Given the description of an element on the screen output the (x, y) to click on. 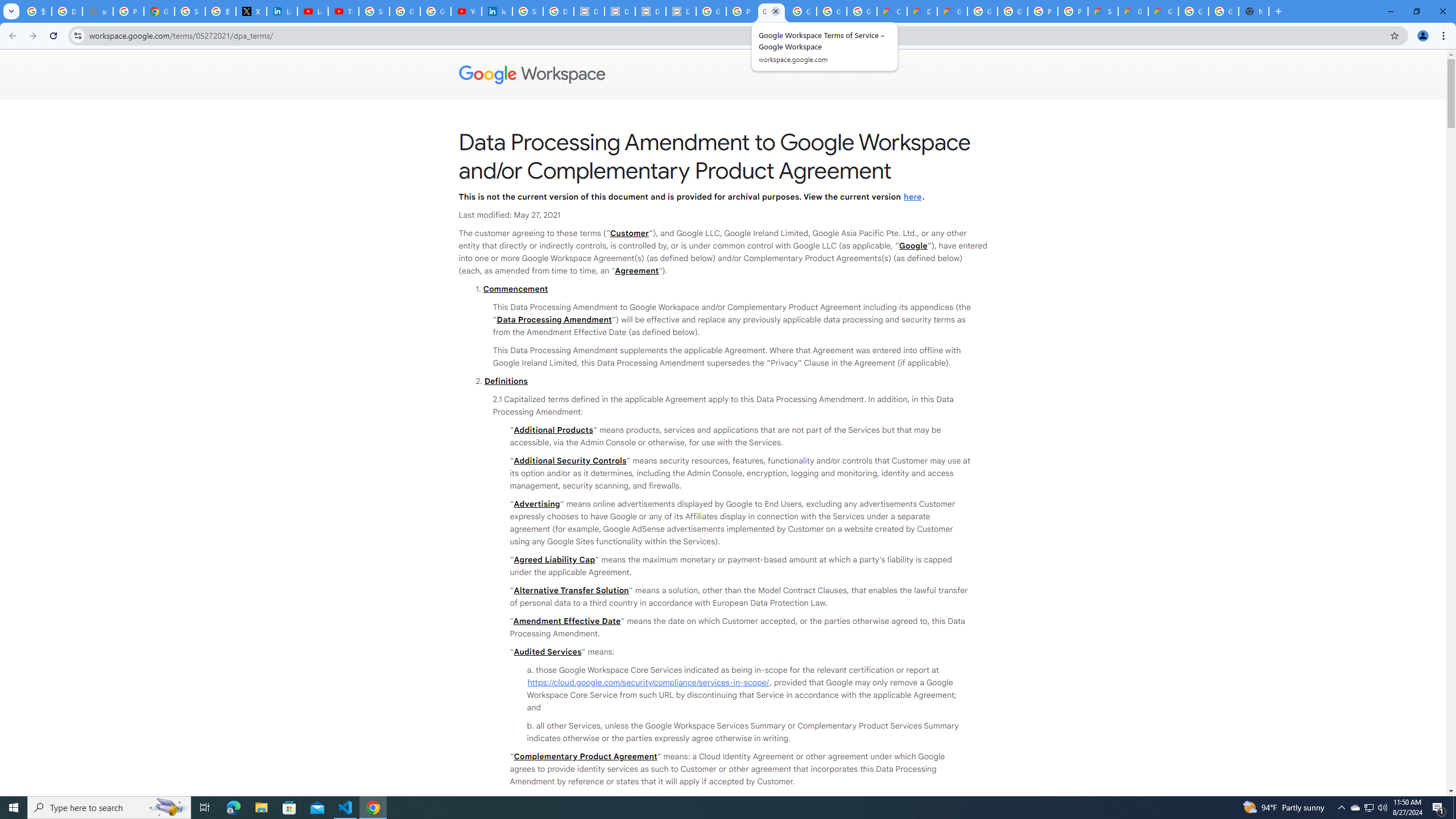
Google Cloud Service Health (1162, 11)
Google Workspace (723, 74)
Support Hub | Google Cloud (1102, 11)
Data Privacy Framework (619, 11)
